Given the description of an element on the screen output the (x, y) to click on. 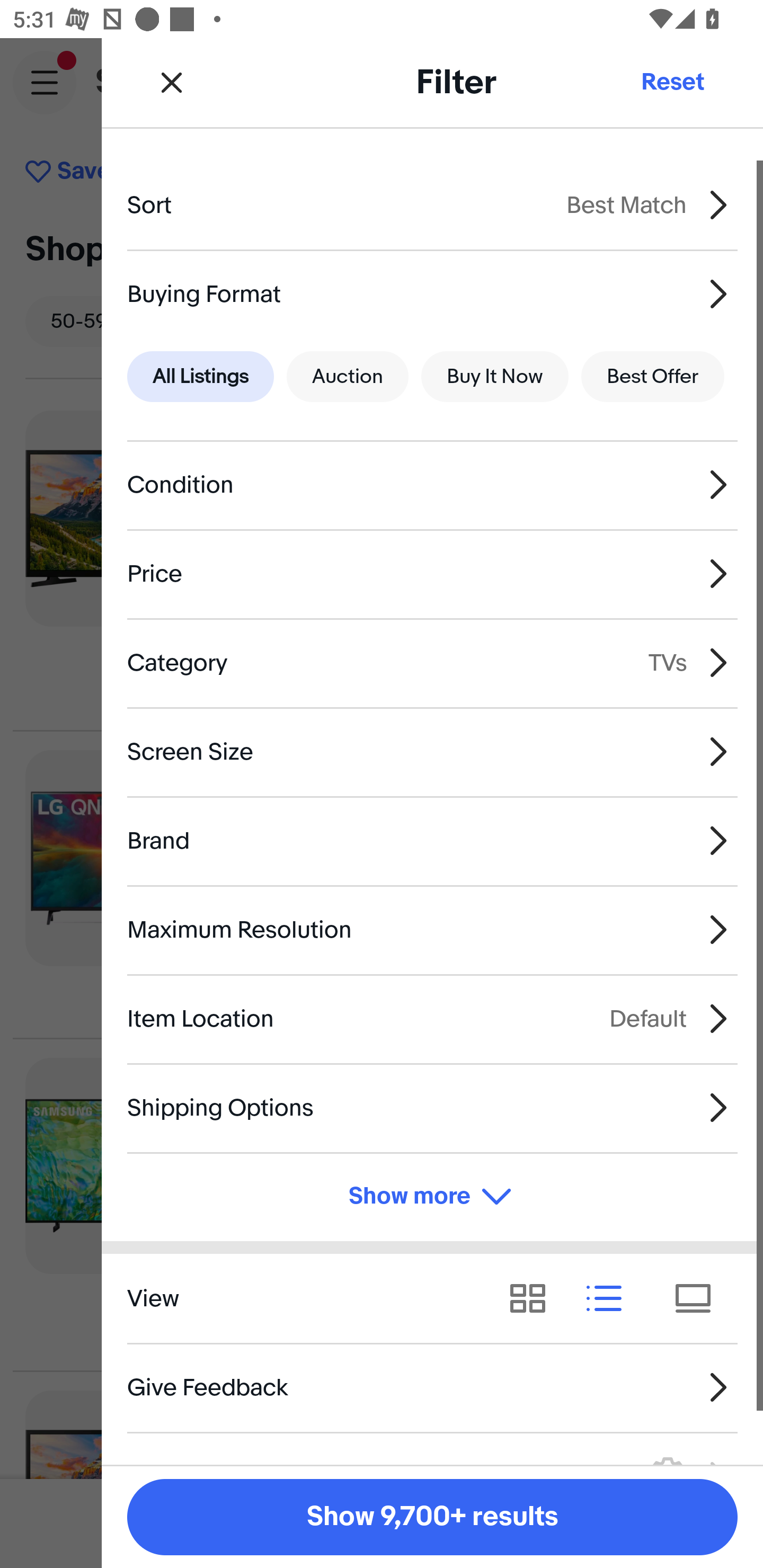
Close Filter (171, 81)
Reset (672, 81)
Buying Format (432, 293)
All Listings (200, 376)
Auction (347, 376)
Buy It Now (494, 376)
Best Offer (652, 376)
Condition (432, 484)
Price (432, 573)
Category TVs (432, 662)
Screen Size (432, 751)
Brand (432, 840)
Maximum Resolution (432, 929)
Item Location Default (432, 1018)
Shipping Options (432, 1107)
Show more (432, 1196)
View results as grid (533, 1297)
View results as list (610, 1297)
View results as tiles (699, 1297)
Show 9,700+ results (432, 1516)
